Given the description of an element on the screen output the (x, y) to click on. 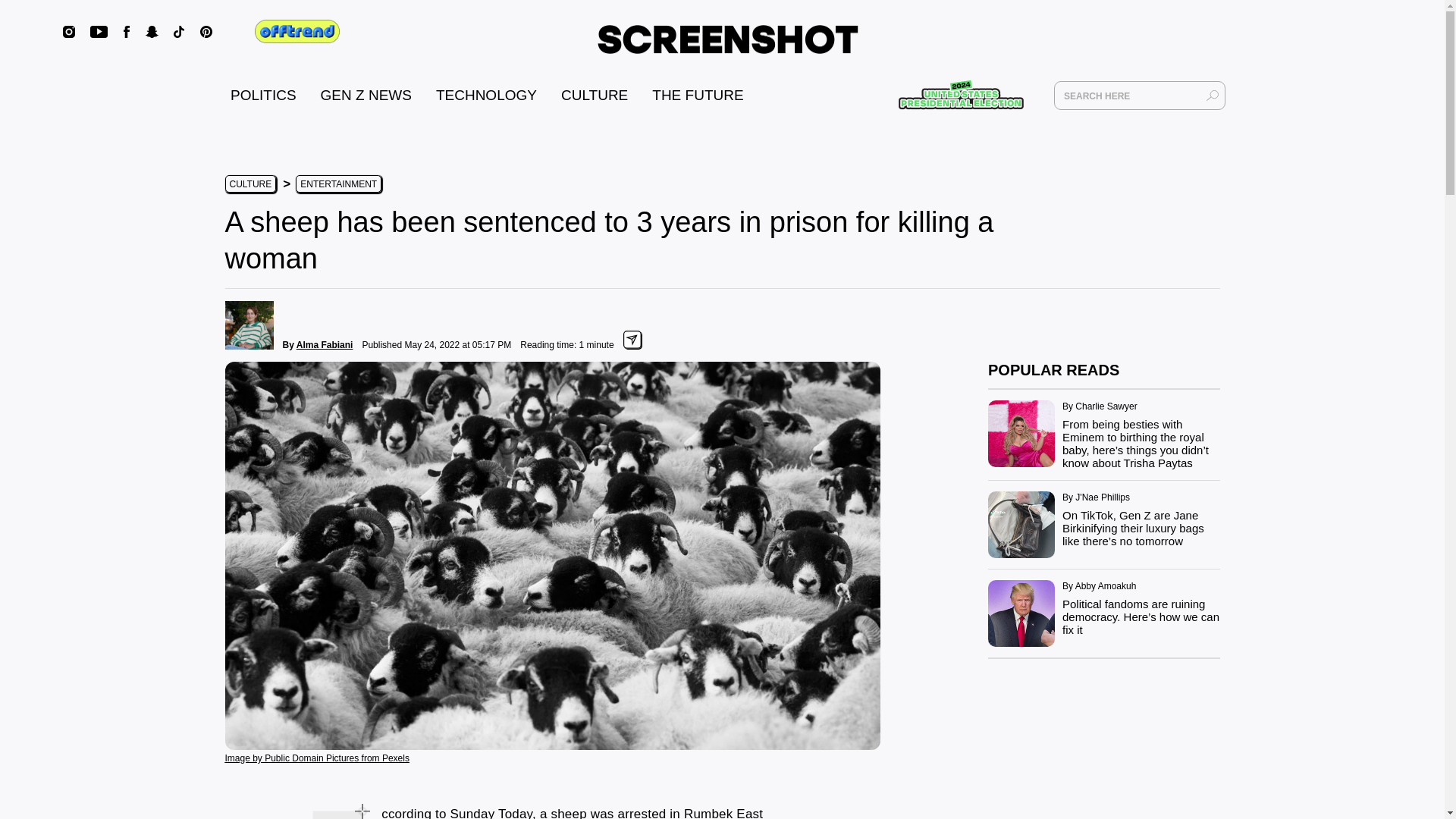
ENTERTAINMENT (338, 184)
Alma Fabiani (325, 344)
THE FUTURE (697, 94)
POLITICS (263, 94)
CULTURE (249, 184)
Image by Public Domain Pictures from Pexels (316, 757)
GEN Z NEWS (366, 94)
TECHNOLOGY (486, 94)
CULTURE (593, 94)
